Given the description of an element on the screen output the (x, y) to click on. 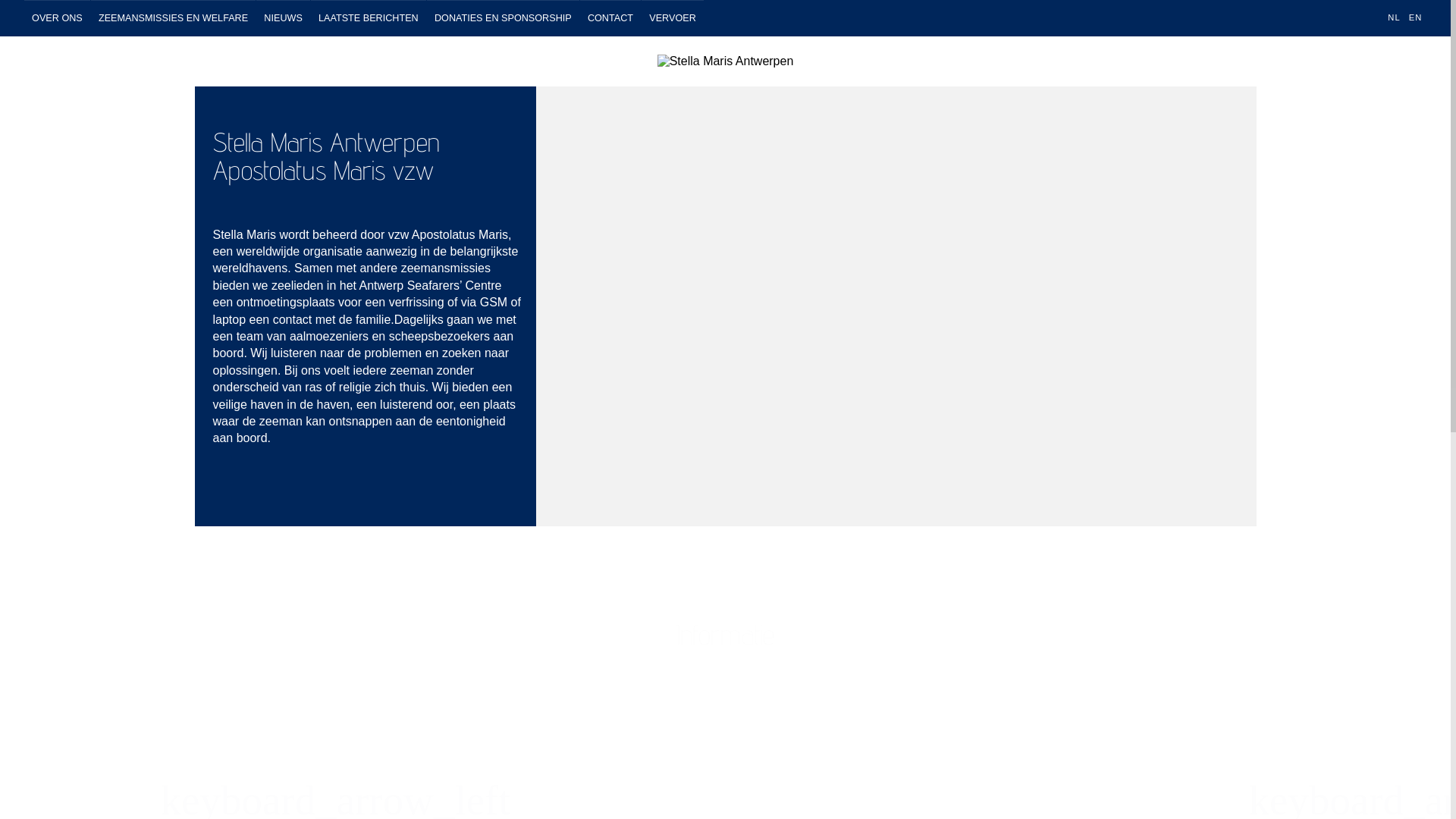
DONATIES EN SPONSORSHIP Element type: text (502, 18)
VERVOER Element type: text (672, 18)
LAATSTE BERICHTEN Element type: text (368, 18)
NL Element type: text (1394, 17)
EN Element type: text (1415, 17)
CONTACT Element type: text (610, 18)
OVER ONS Element type: text (57, 18)
ZEEMANSMISSIES EN WELFARE Element type: text (173, 18)
Stella Maris Antwerpen Element type: hover (725, 61)
